Given the description of an element on the screen output the (x, y) to click on. 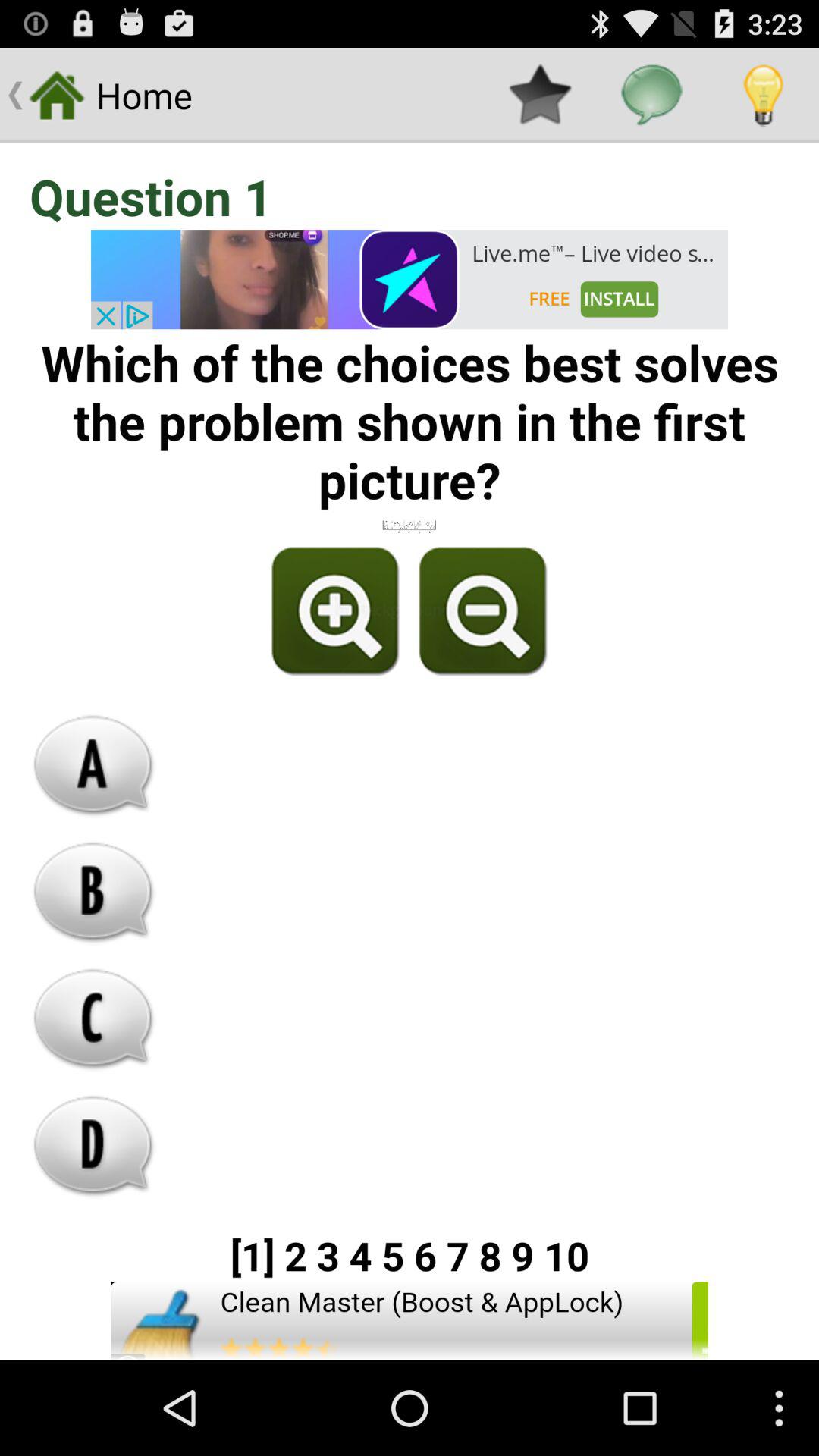
adverisement (409, 279)
